Given the description of an element on the screen output the (x, y) to click on. 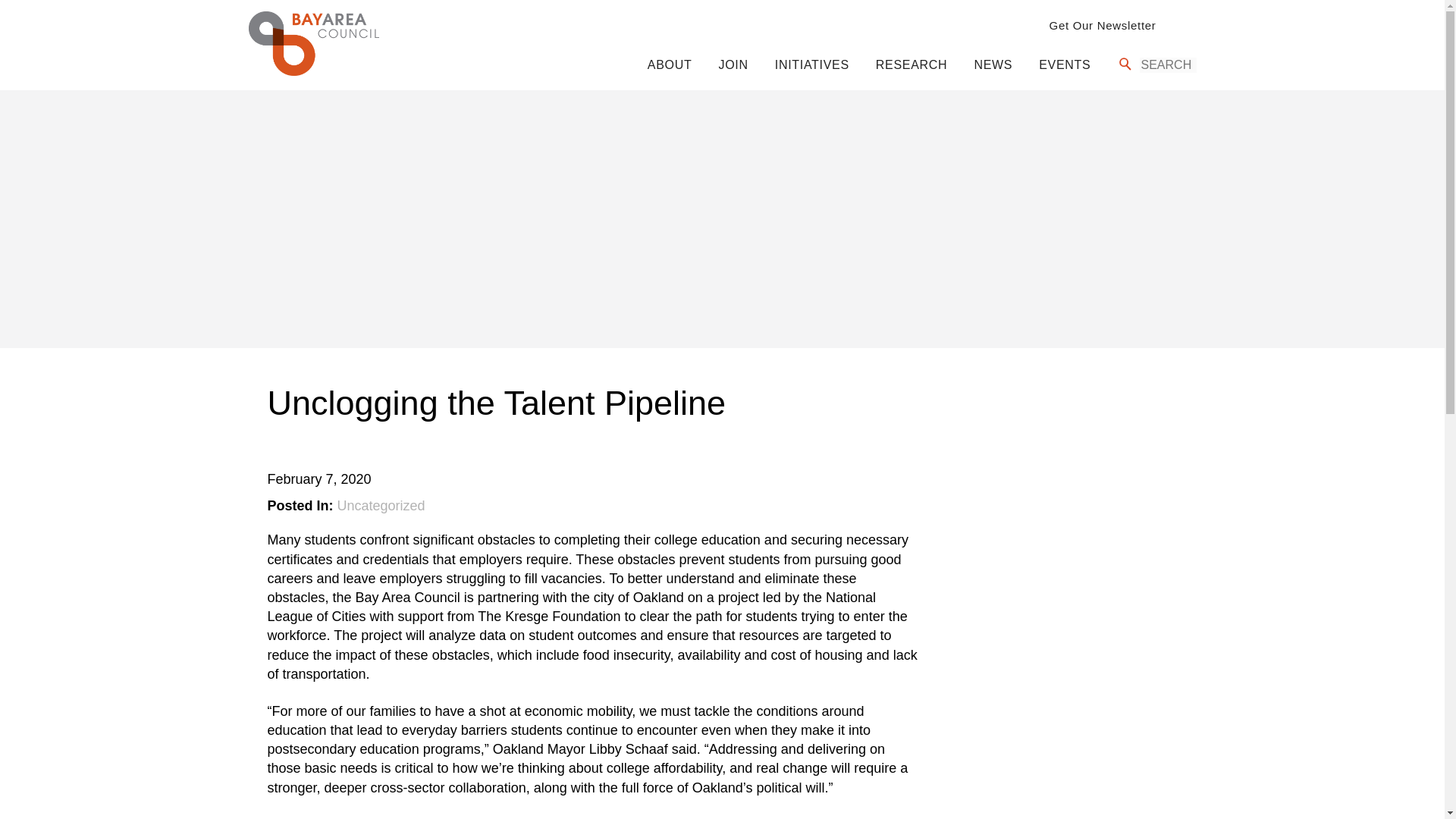
View all in Uncategorized (381, 505)
Get Our Newsletter (1102, 24)
INITIATIVES (811, 64)
JOIN (732, 64)
NEWS (992, 64)
ABOUT (670, 64)
RESEARCH (911, 64)
